Given the description of an element on the screen output the (x, y) to click on. 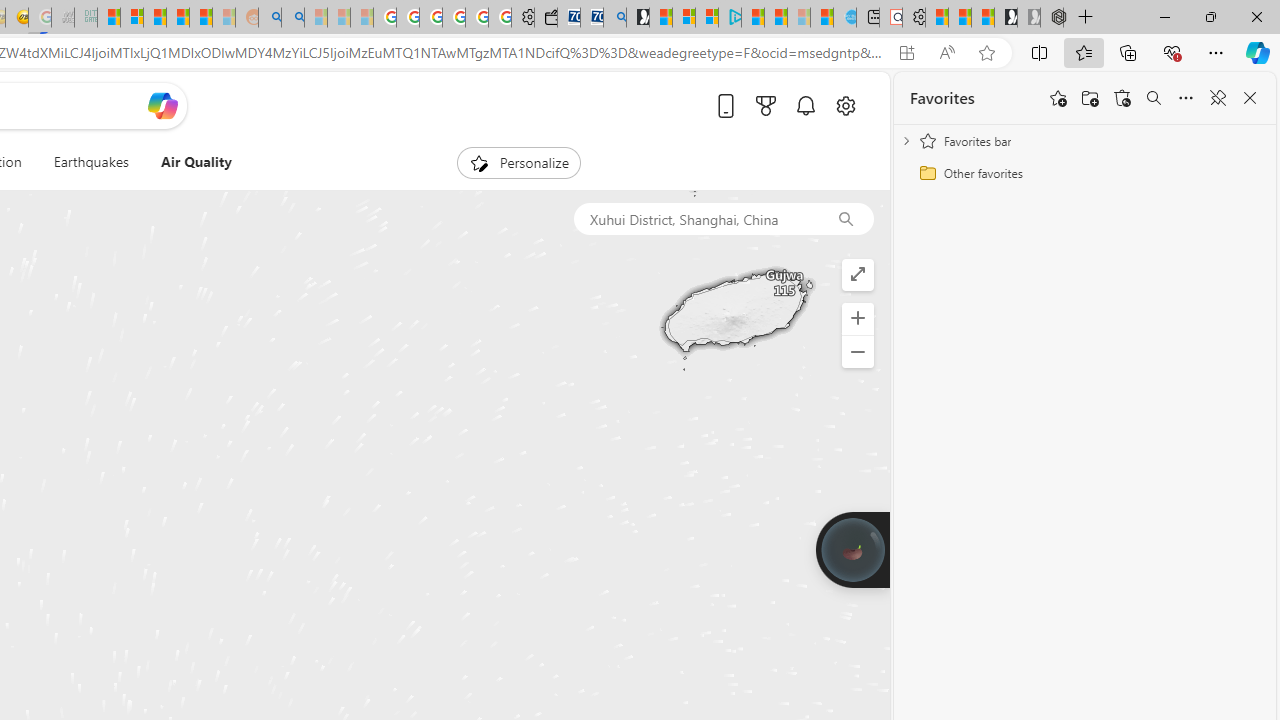
Xuhui District, Shanghai, China (695, 218)
Join us in planting real trees to help our planet! (852, 548)
Utah sues federal government - Search (292, 17)
Enter full screen mode (858, 274)
Student Loan Update: Forgiveness Program Ends This Month (200, 17)
Earthquakes (90, 162)
